Given the description of an element on the screen output the (x, y) to click on. 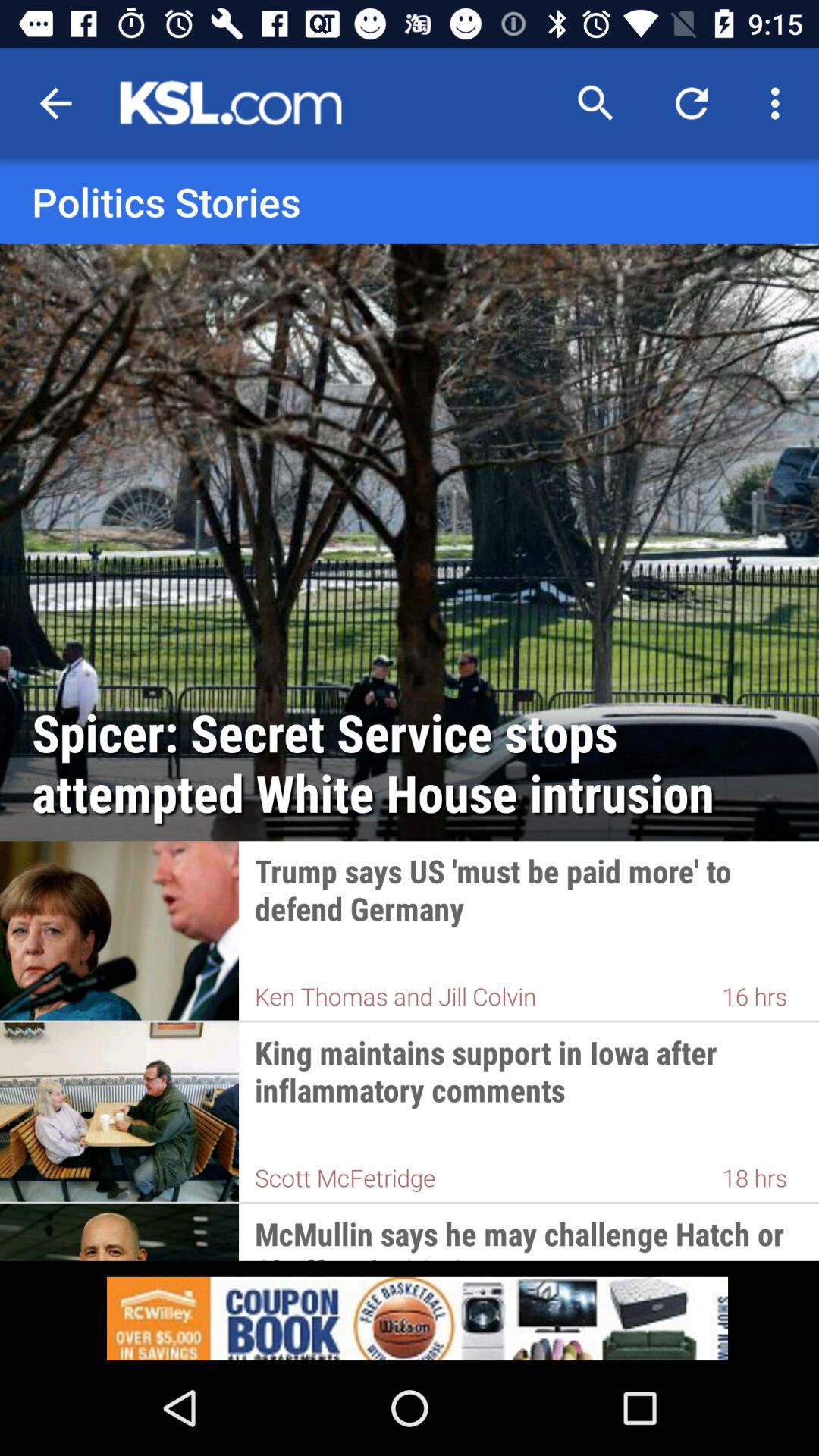
view advertisement (409, 1310)
